Given the description of an element on the screen output the (x, y) to click on. 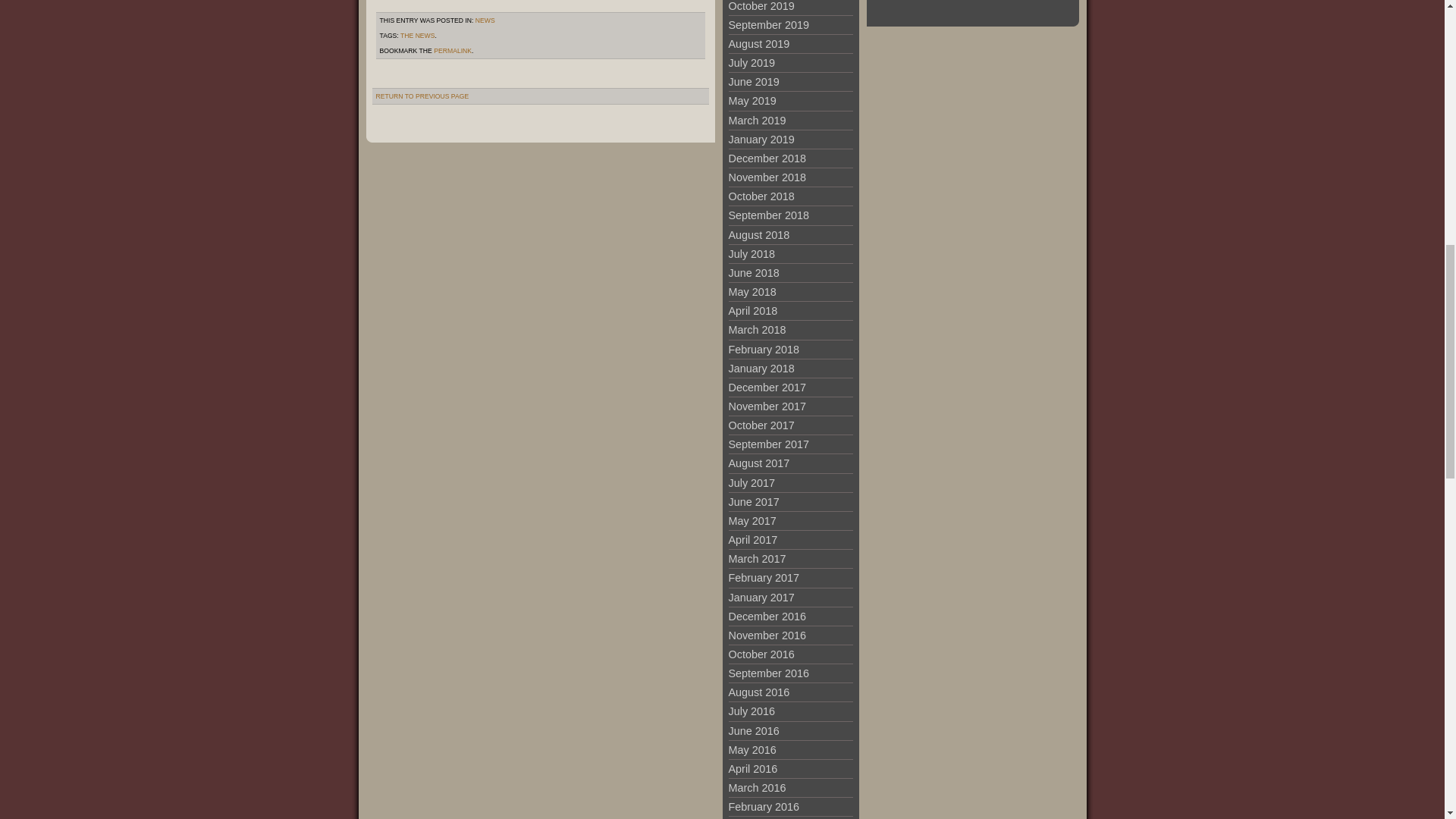
Permalink to Continue to Grow As A Person (452, 50)
RETURN TO PREVIOUS PAGE (421, 95)
NEWS (485, 20)
PERMALINK (452, 50)
THE NEWS (417, 35)
